Given the description of an element on the screen output the (x, y) to click on. 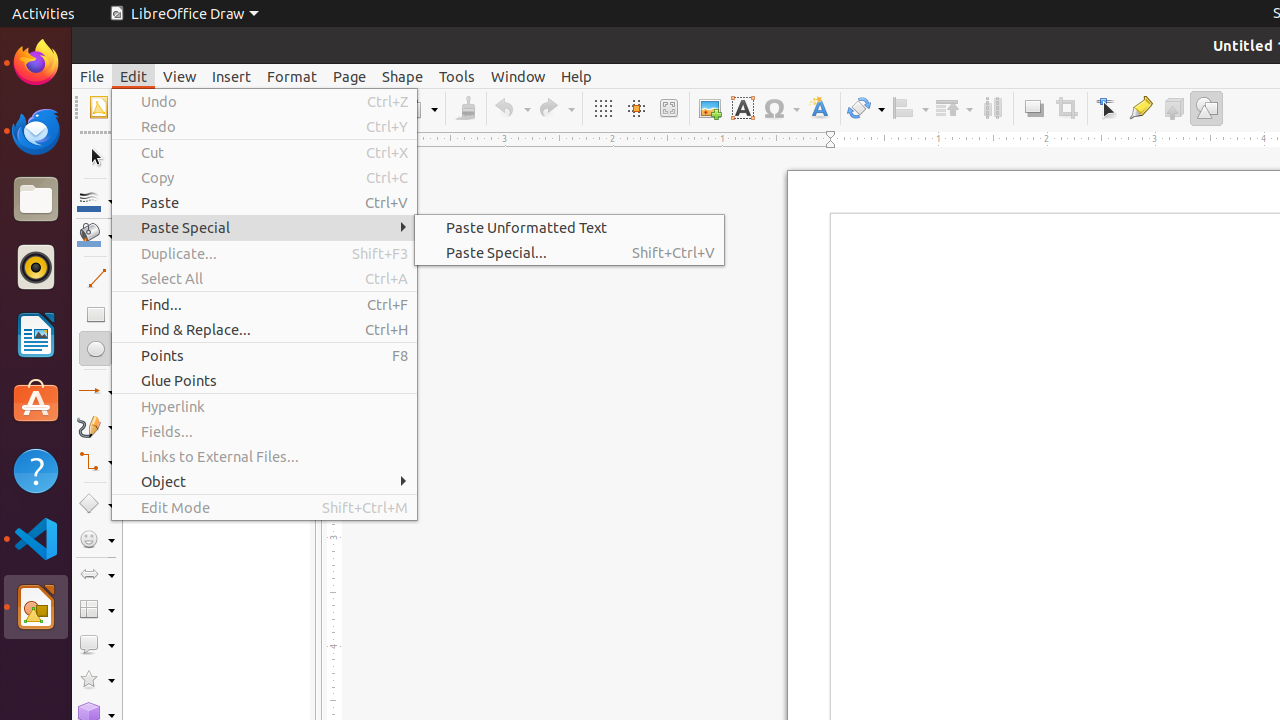
Clone Element type: push-button (465, 108)
Cut Element type: menu-item (264, 152)
Edit Element type: menu (133, 76)
Text Box Element type: push-button (742, 108)
LibreOffice Draw Element type: push-button (36, 607)
